Given the description of an element on the screen output the (x, y) to click on. 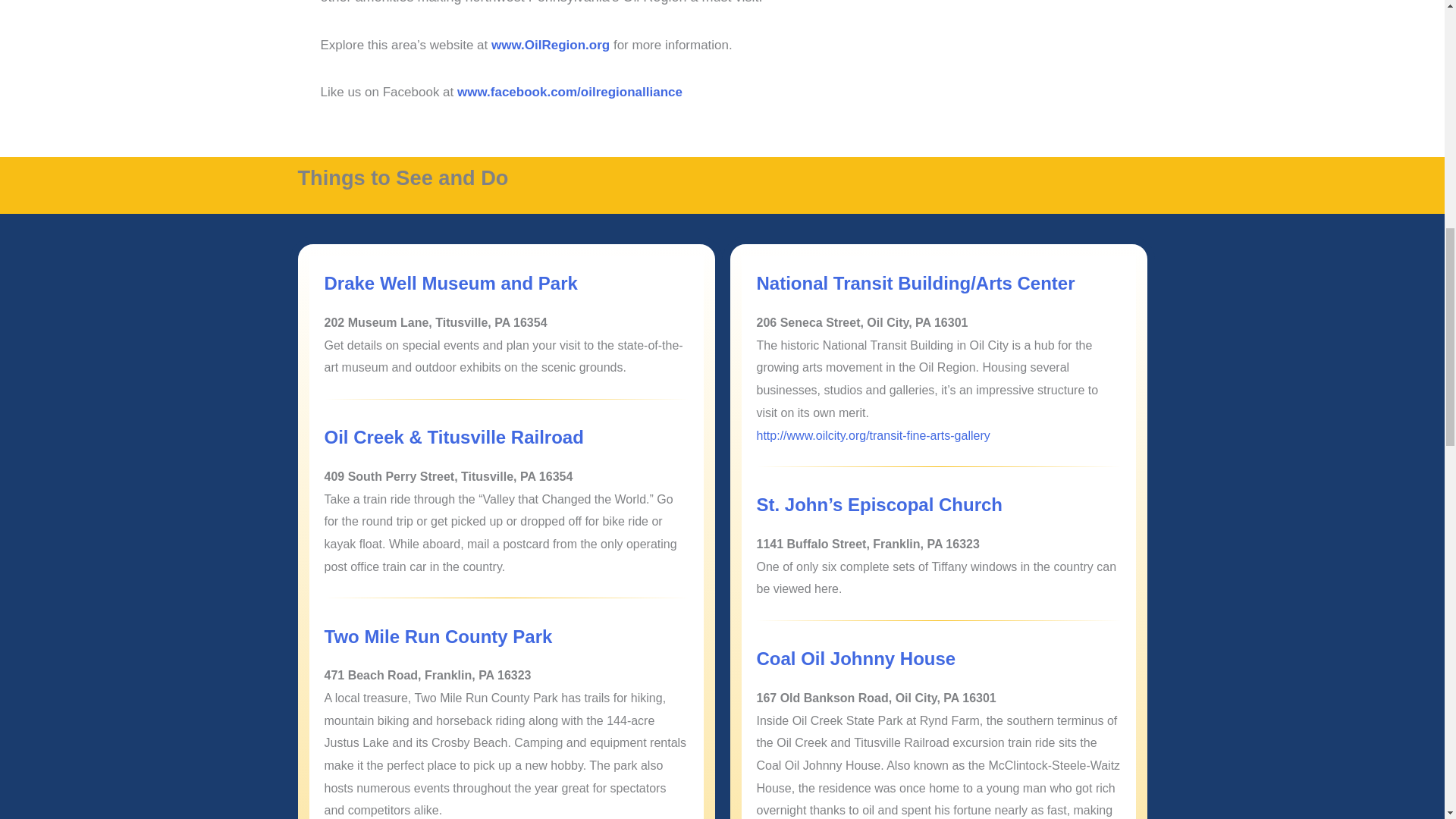
www.OilRegion.org (551, 44)
Coal Oil Johnny House (856, 658)
Drake Well Museum and Park (451, 282)
Two Mile Run County Park (438, 636)
